Given the description of an element on the screen output the (x, y) to click on. 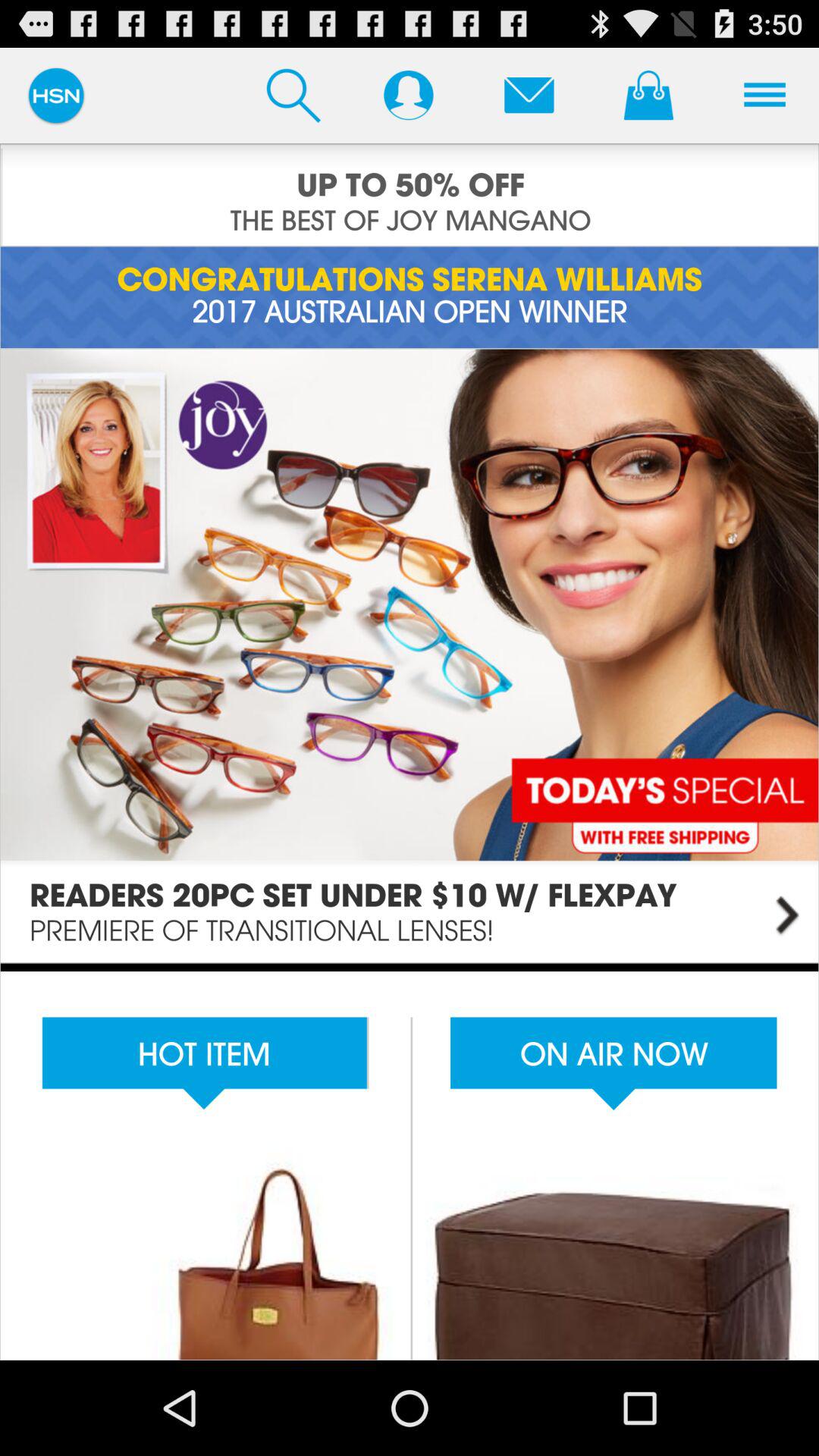
shopping items available (409, 1161)
